Given the description of an element on the screen output the (x, y) to click on. 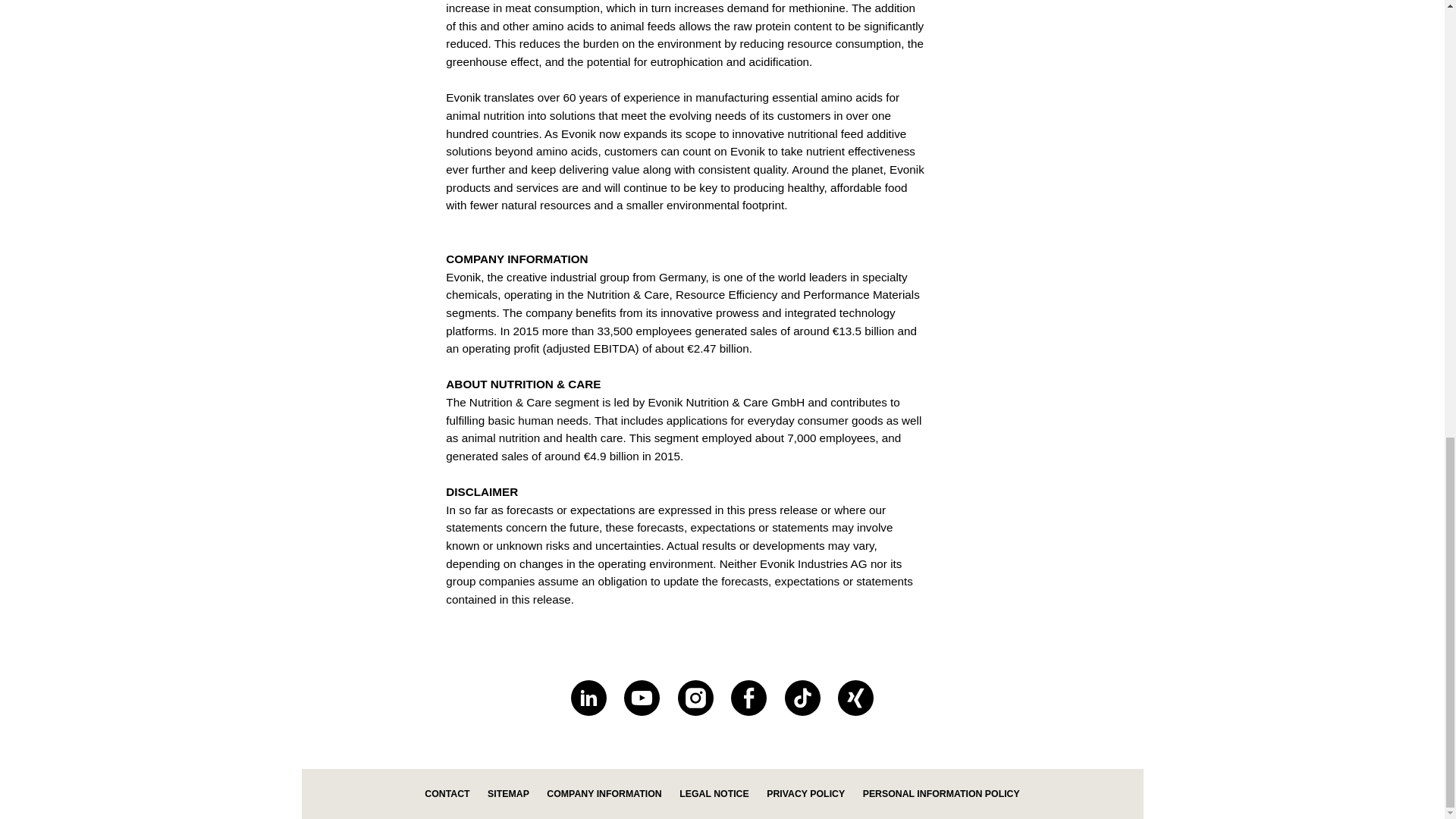
COMPANY INFORMATION (604, 793)
Instagram (695, 697)
CONTACT (446, 793)
PERSONAL INFORMATION POLICY (941, 793)
LEGAL NOTICE (714, 793)
YouTube (641, 697)
PRIVACY POLICY (805, 793)
SITEMAP (508, 793)
LinkedIn (588, 697)
